Given the description of an element on the screen output the (x, y) to click on. 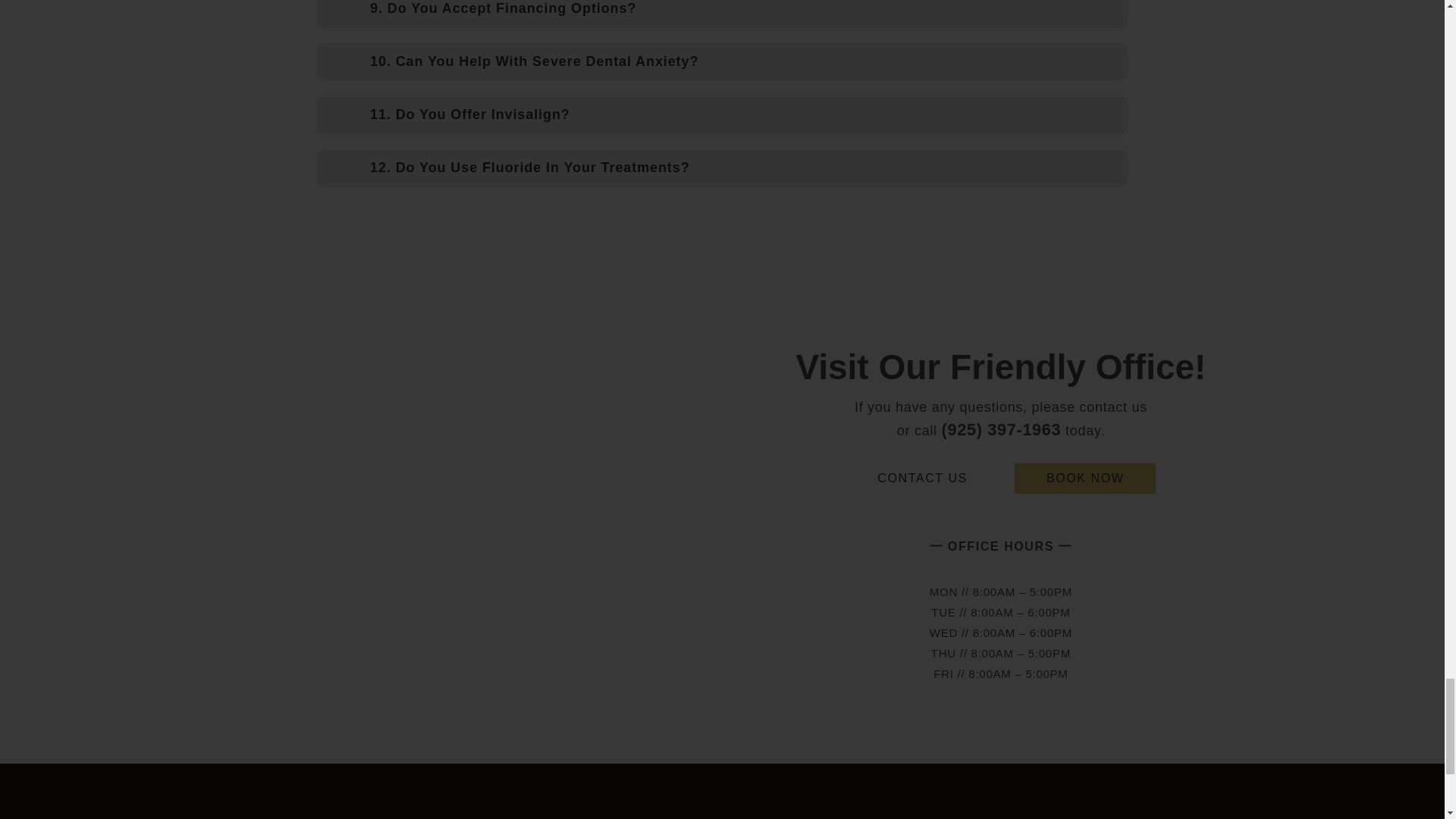
BOOK NOW (1085, 478)
CONTACT US (921, 478)
